Given the description of an element on the screen output the (x, y) to click on. 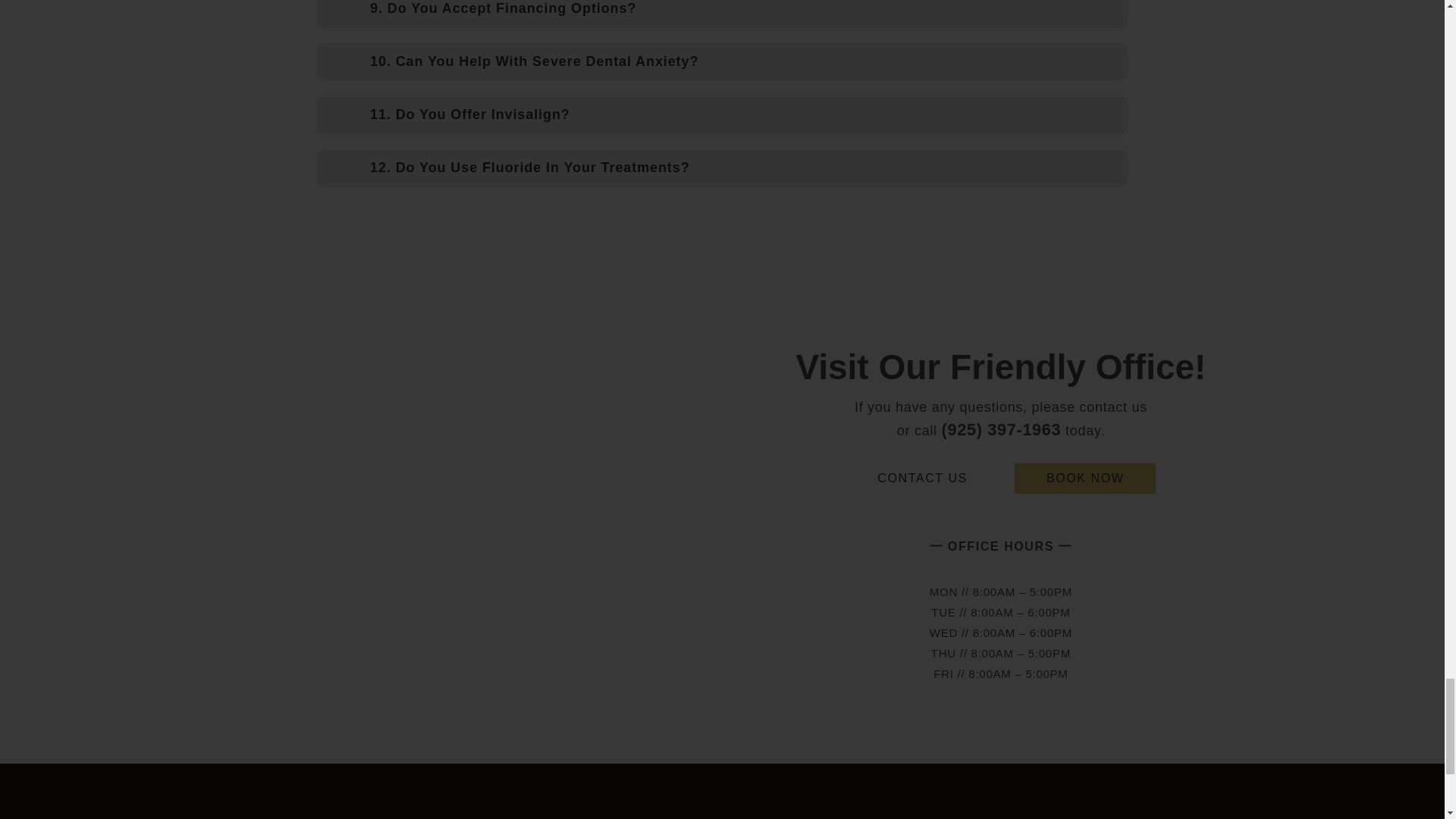
BOOK NOW (1085, 478)
CONTACT US (921, 478)
